Given the description of an element on the screen output the (x, y) to click on. 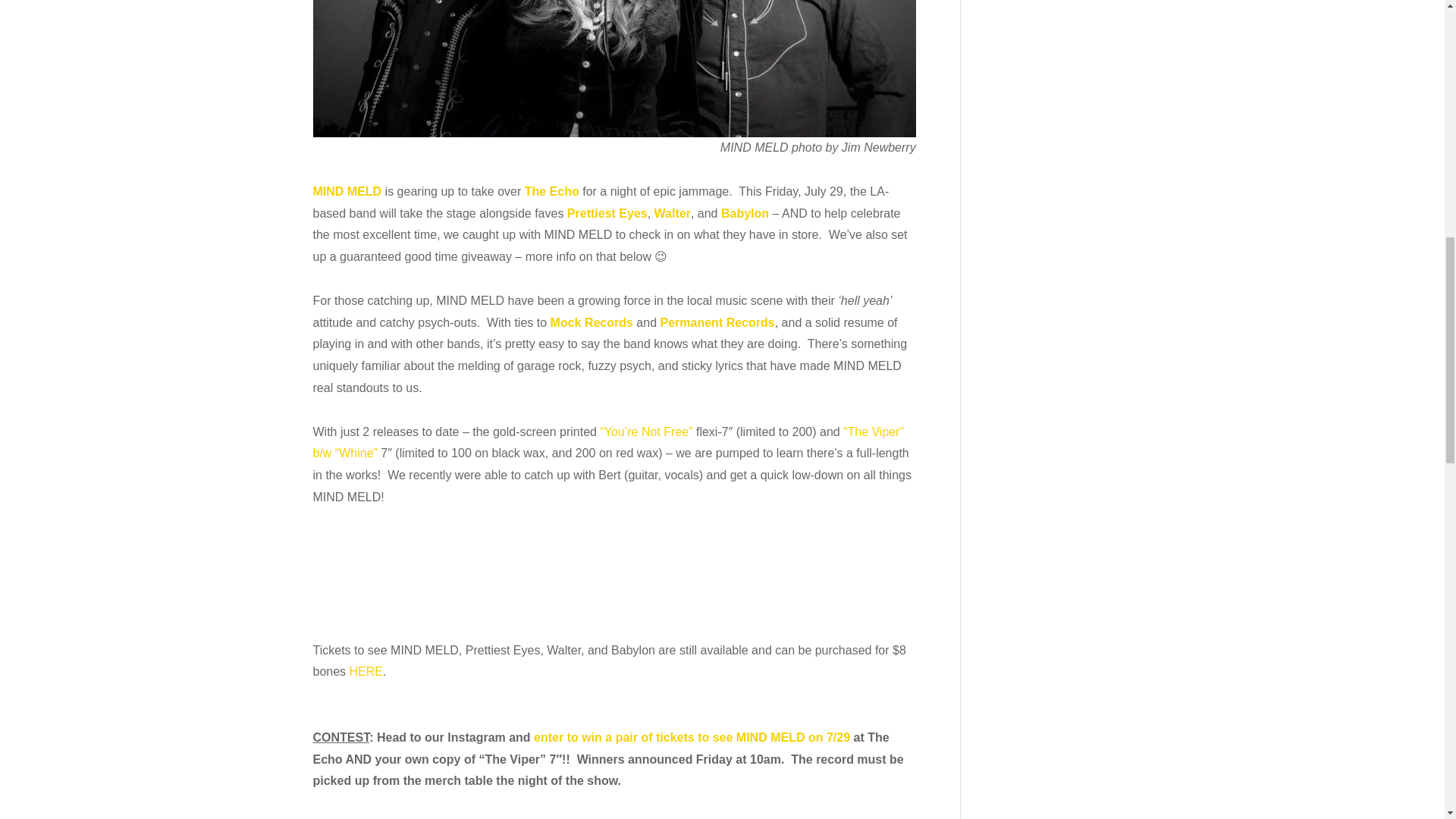
Walter (671, 213)
Mock Records (591, 322)
HERE (365, 671)
Permanent Records (717, 322)
The Echo (551, 191)
Babylon (744, 213)
MIND MELD (347, 191)
Prettiest Eyes (607, 213)
